Given the description of an element on the screen output the (x, y) to click on. 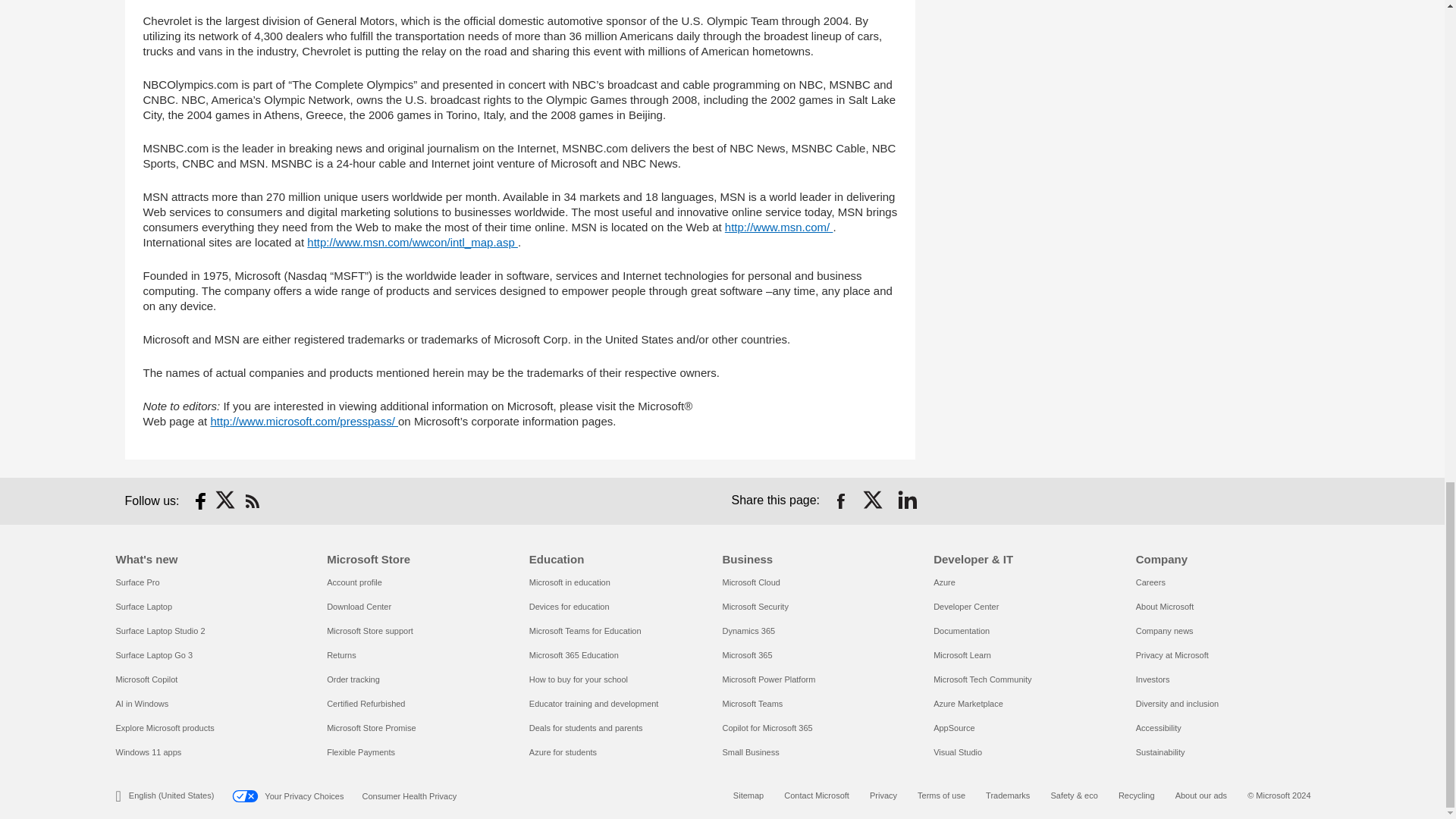
Share on Twitter (873, 500)
RSS Subscription (252, 500)
Share on Facebook (840, 500)
Follow on Facebook (200, 500)
Follow on Twitter (226, 500)
Share on LinkedIn (907, 500)
